Given the description of an element on the screen output the (x, y) to click on. 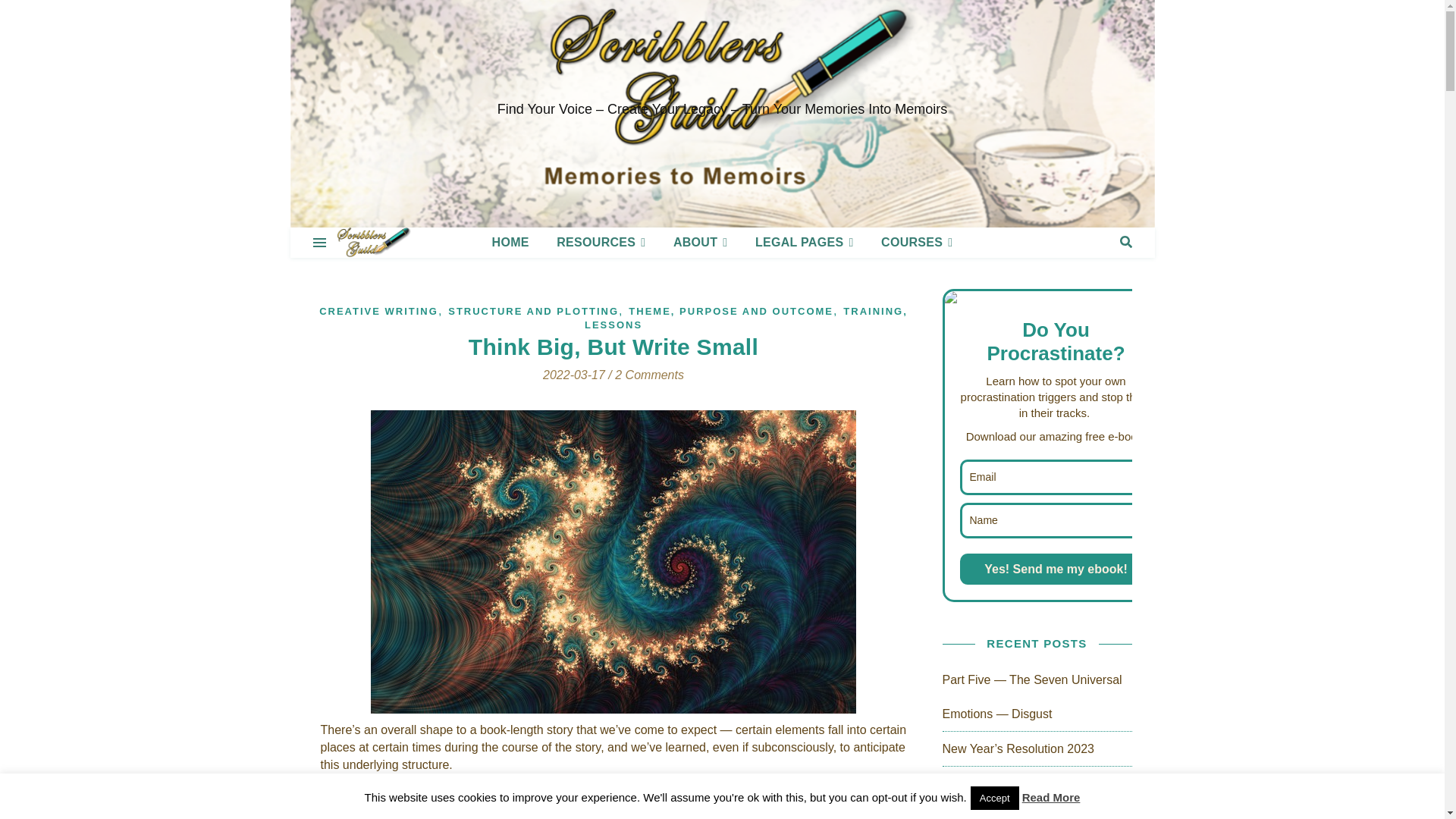
Scribblers Guild (372, 241)
LEGAL PAGES (804, 242)
COURSES (910, 242)
RESOURCES (601, 242)
ABOUT (700, 242)
HOME (516, 242)
